Given the description of an element on the screen output the (x, y) to click on. 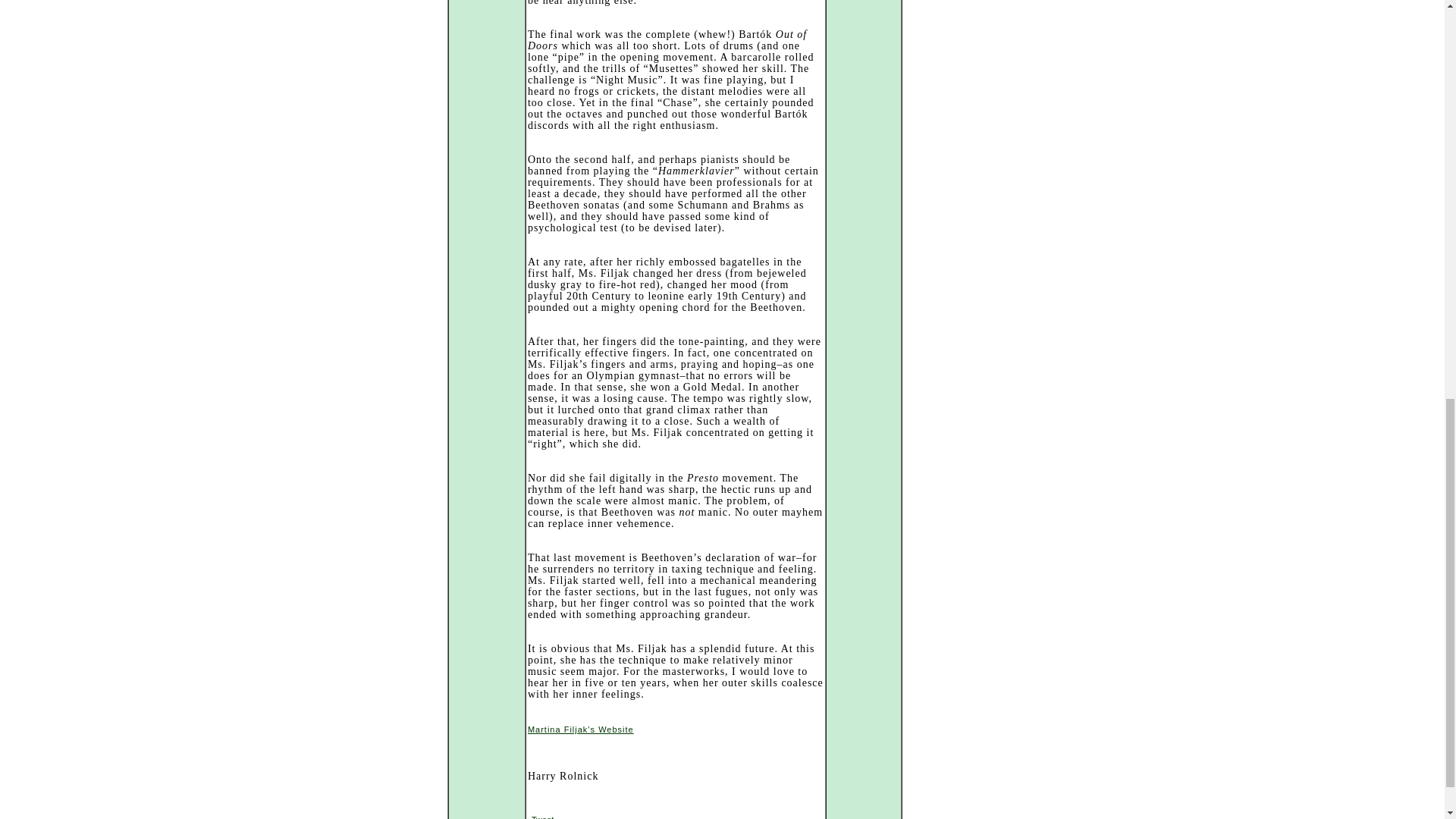
Tweet (542, 816)
